Given the description of an element on the screen output the (x, y) to click on. 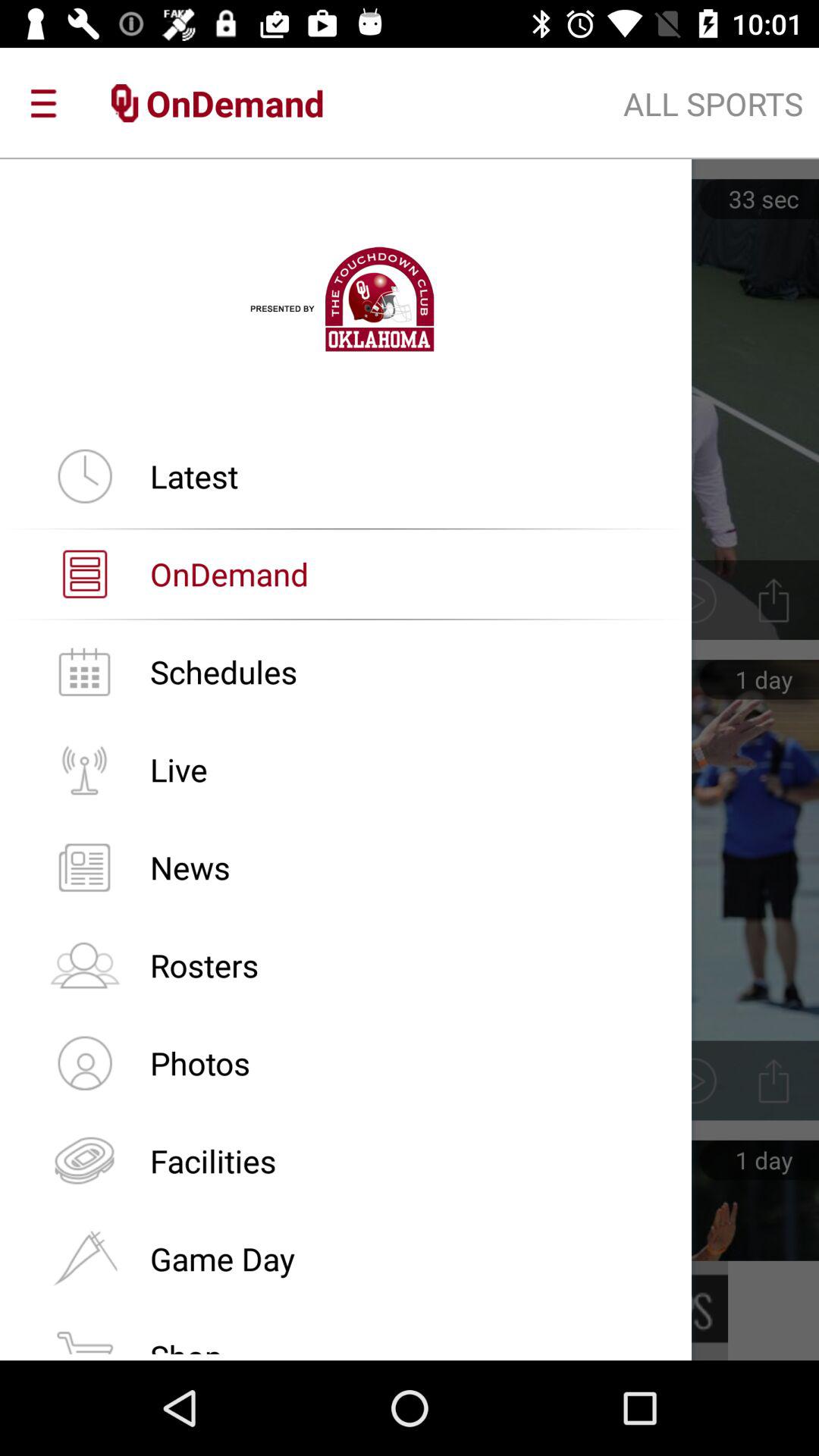
click calendar icon (84, 671)
click on icon which is right to photos (773, 1081)
click on icon which is beside the latest (84, 476)
